Given the description of an element on the screen output the (x, y) to click on. 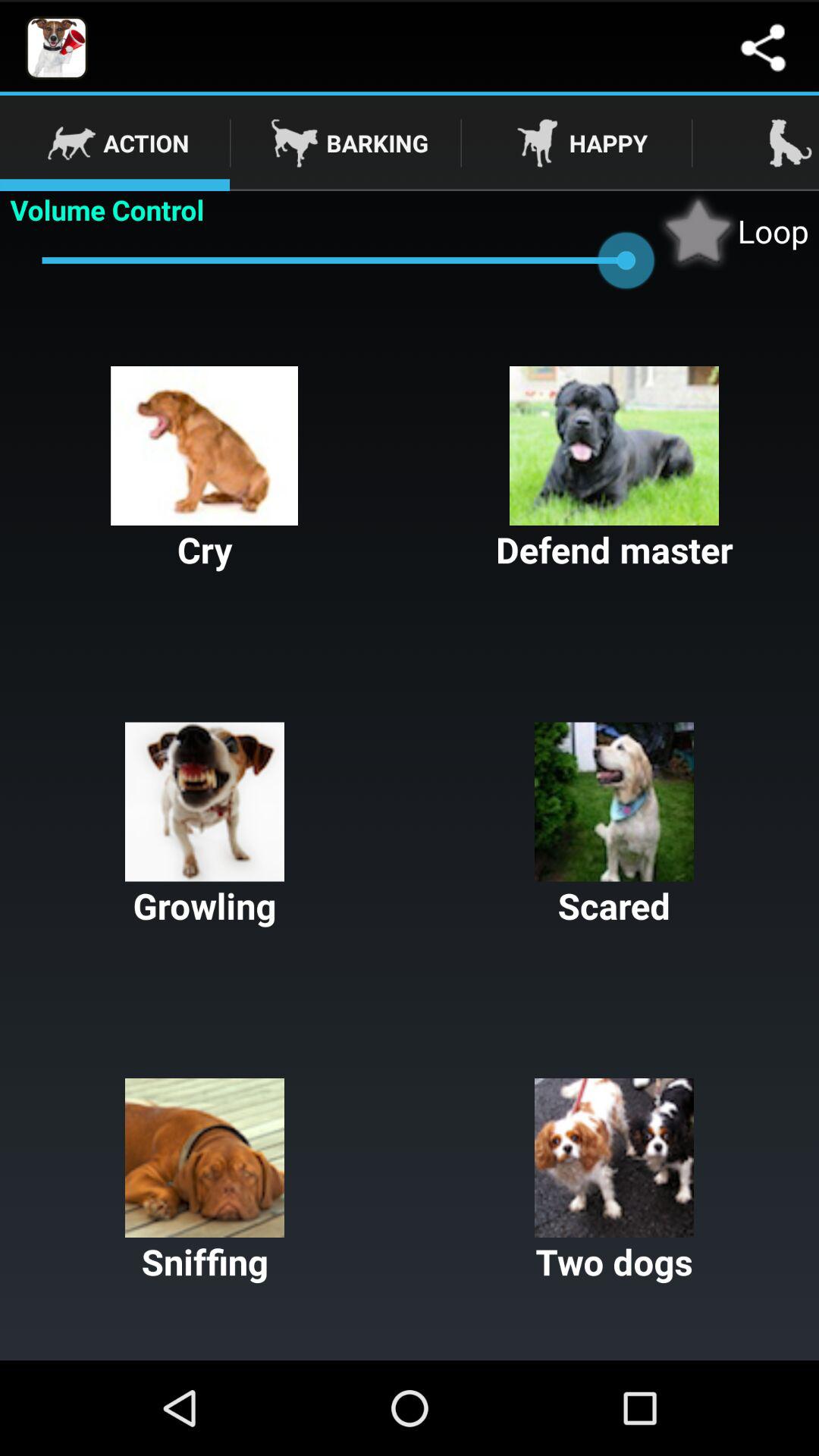
open the scared (614, 825)
